Given the description of an element on the screen output the (x, y) to click on. 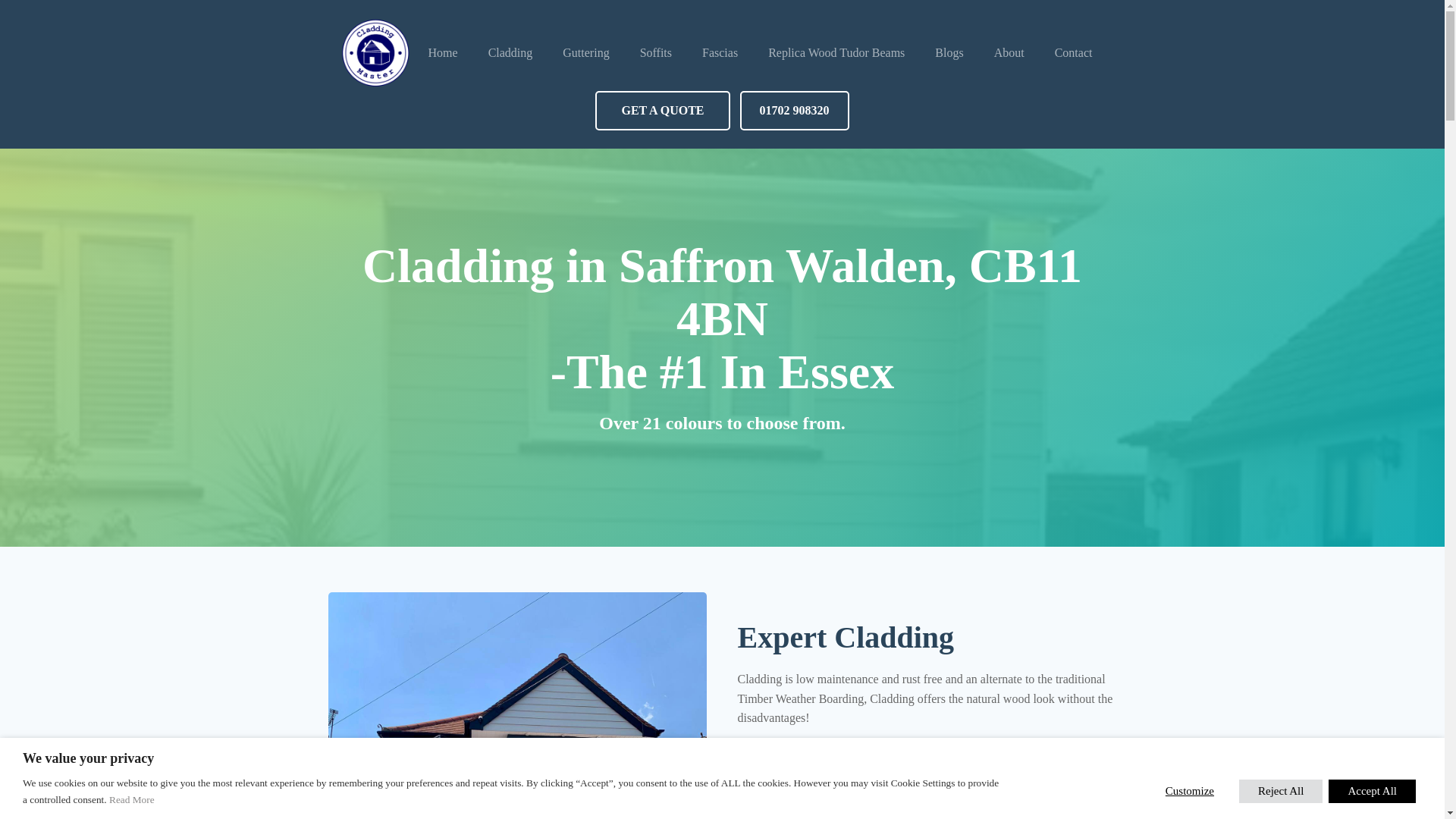
Replica Wood Tudor Beams (836, 53)
GET A QUOTE (662, 110)
About (1008, 53)
Fascias (719, 53)
Home (443, 53)
Soffits (655, 53)
01702 908320 (793, 110)
Cladding (510, 53)
Guttering (585, 53)
Contact (1073, 53)
Blogs (949, 53)
